Given the description of an element on the screen output the (x, y) to click on. 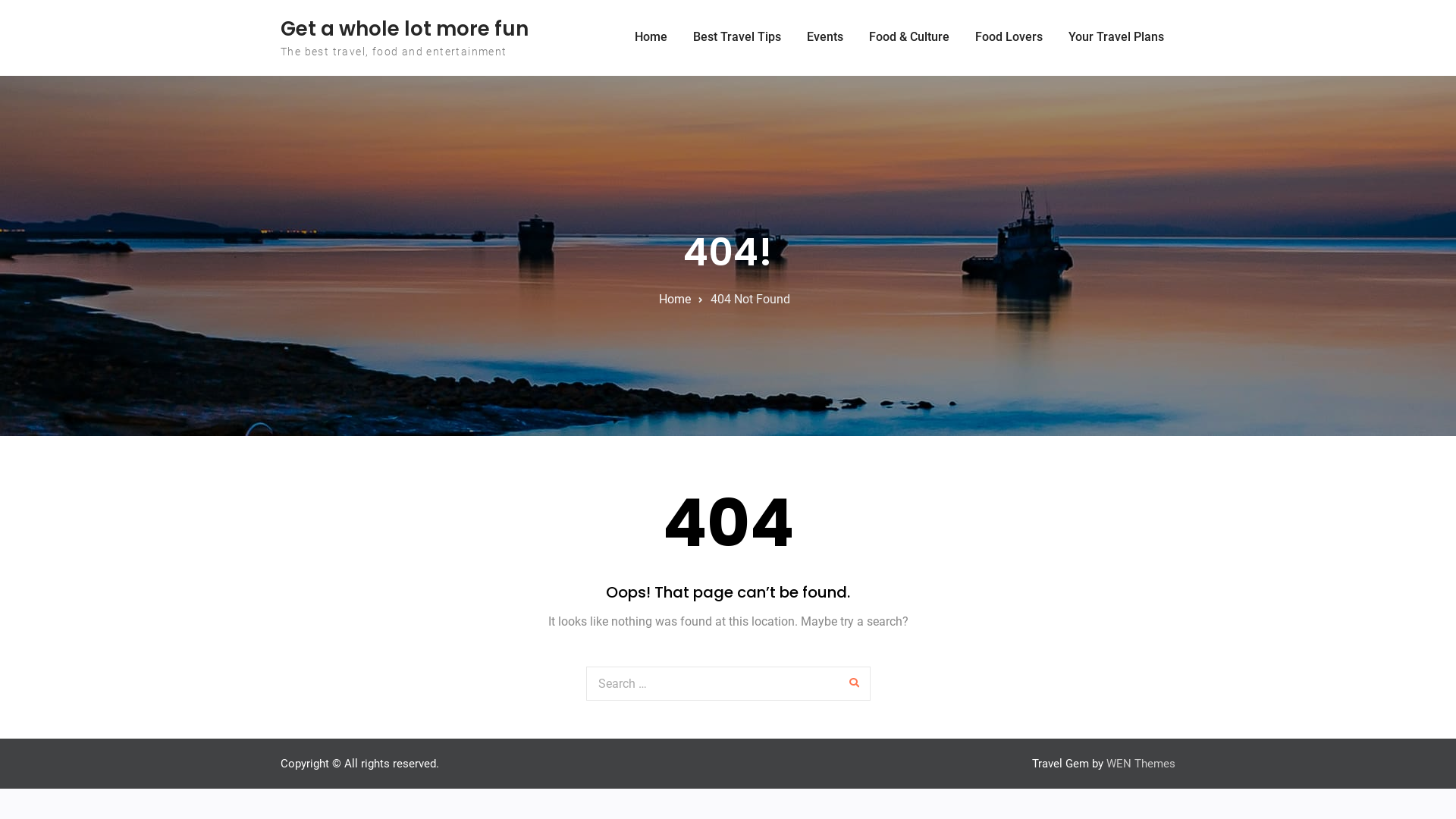
WEN Themes Element type: text (1140, 763)
Get a whole lot more fun Element type: text (404, 28)
Food & Culture Element type: text (908, 36)
Your Travel Plans Element type: text (1116, 36)
Home Element type: text (674, 298)
Skip to content Element type: text (0, 0)
Events Element type: text (824, 36)
Food Lovers Element type: text (1008, 36)
Home Element type: text (650, 36)
Best Travel Tips Element type: text (736, 36)
